Given the description of an element on the screen output the (x, y) to click on. 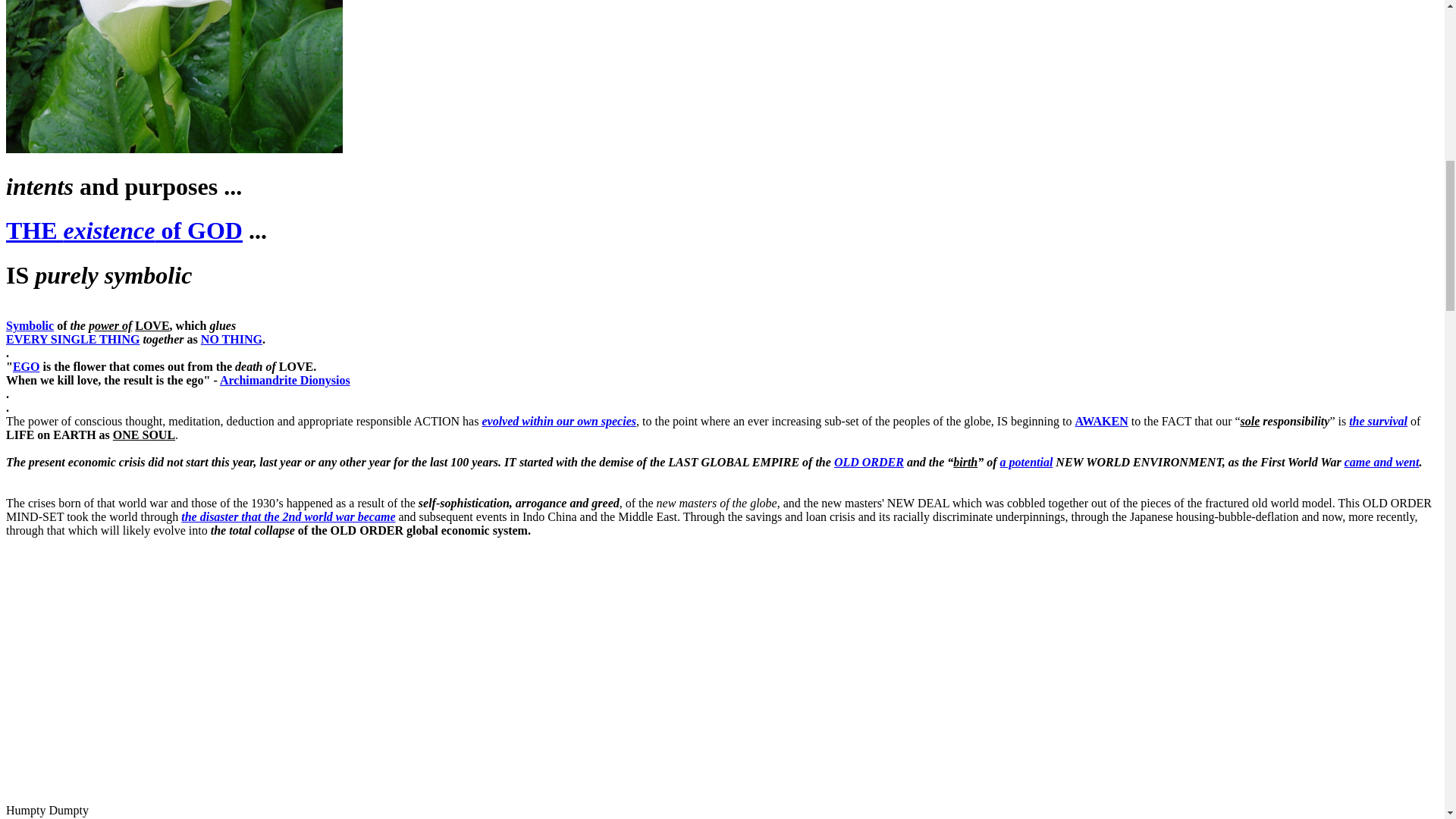
Symbolic (29, 325)
EVERY SINGLE THING (72, 338)
the survival (1378, 420)
evolved within our own species (558, 420)
AWAKEN (1101, 420)
a potential (1026, 461)
NO THING (231, 338)
the disaster that the 2nd world war became (287, 516)
EGO (26, 366)
OLD ORDER (869, 461)
came and went (1381, 461)
THE existence of GOD (124, 230)
Archimandrite Dionysios (284, 379)
